Given the description of an element on the screen output the (x, y) to click on. 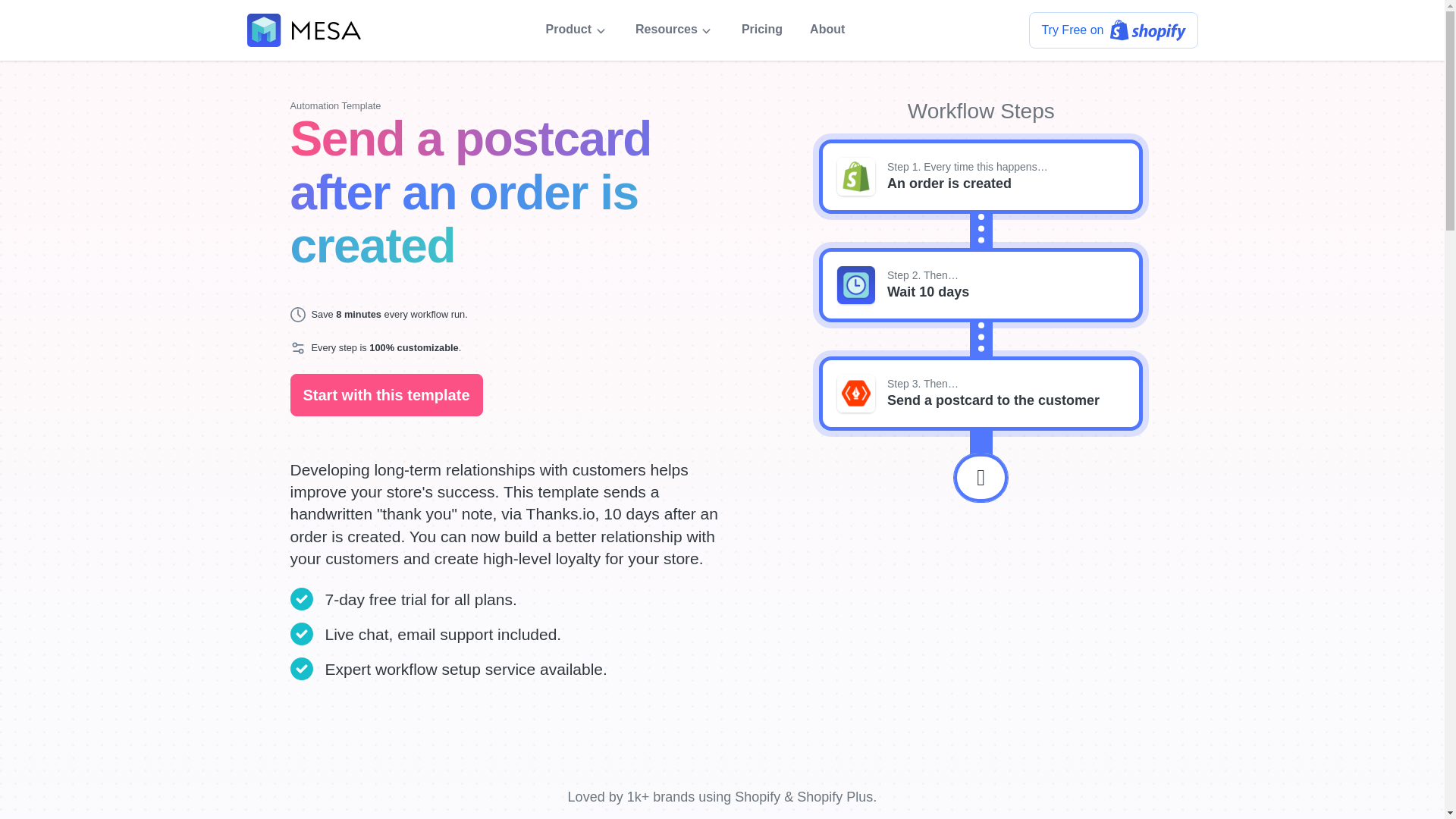
Product (577, 29)
About (826, 29)
Start with this template (385, 394)
Try Free on (1112, 30)
Resources (674, 29)
Pricing (762, 29)
